Given the description of an element on the screen output the (x, y) to click on. 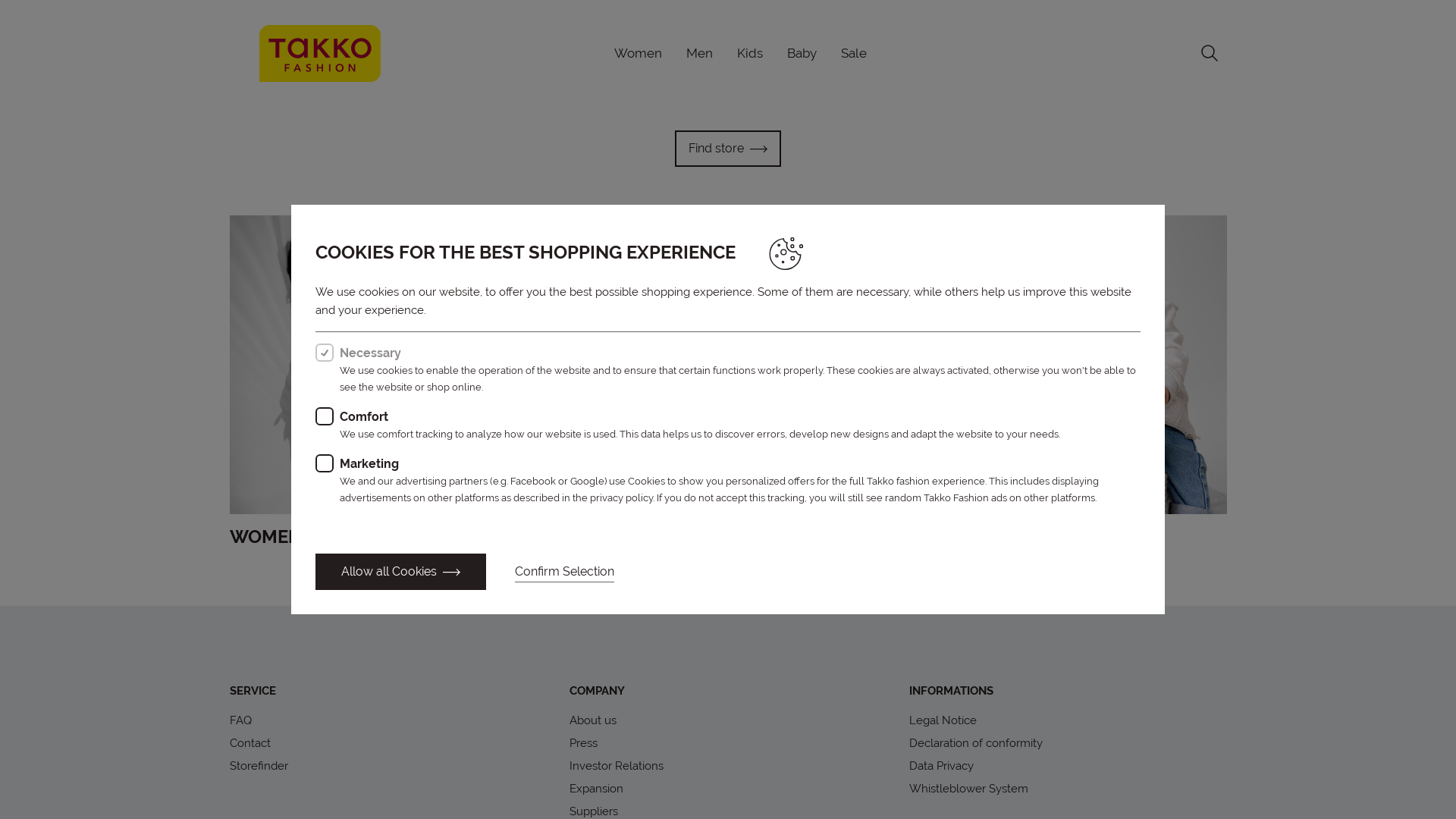
Legal Notice Element type: text (942, 720)
Storefinder Element type: text (258, 765)
Women Element type: text (638, 53)
Confirm Selection Element type: text (564, 571)
Contact Element type: text (249, 742)
Sale Element type: text (853, 53)
Kids Element type: text (749, 53)
Men Element type: text (698, 53)
Baby Element type: text (801, 53)
About us Element type: text (592, 720)
Allow all Cookies Element type: text (400, 571)
Declaration of conformity Element type: text (975, 742)
cookieImg Element type: hover (787, 255)
Expansion Element type: text (596, 788)
Whistleblower System Element type: text (968, 788)
Data Privacy Element type: text (941, 765)
Takko Fashion Home Element type: hover (320, 52)
FAQ Element type: text (240, 720)
Suppliers Element type: text (593, 811)
Find store Element type: text (727, 148)
Press Element type: text (583, 742)
Investor Relations Element type: text (616, 765)
